Given the description of an element on the screen output the (x, y) to click on. 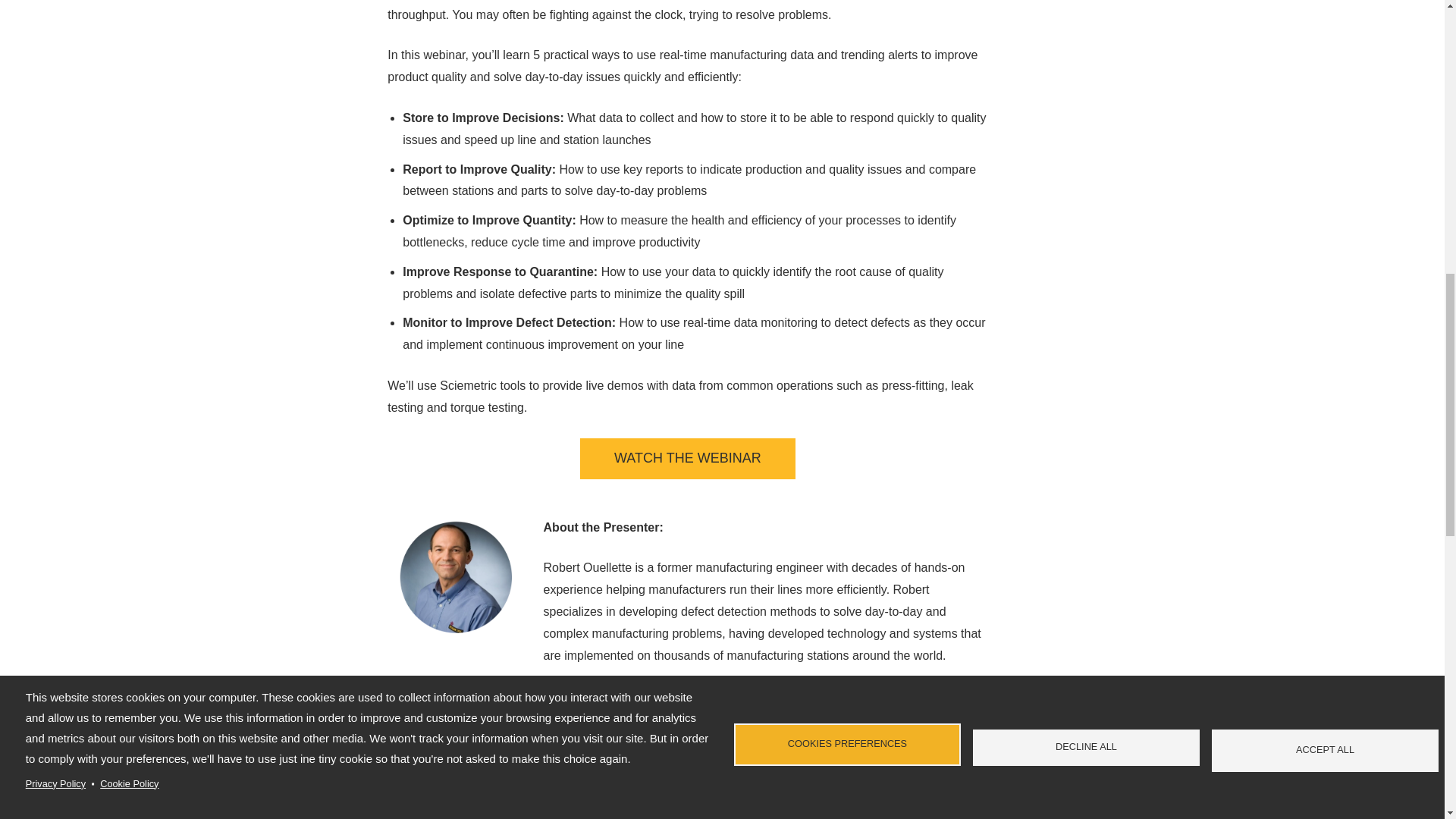
Register (686, 458)
